Given the description of an element on the screen output the (x, y) to click on. 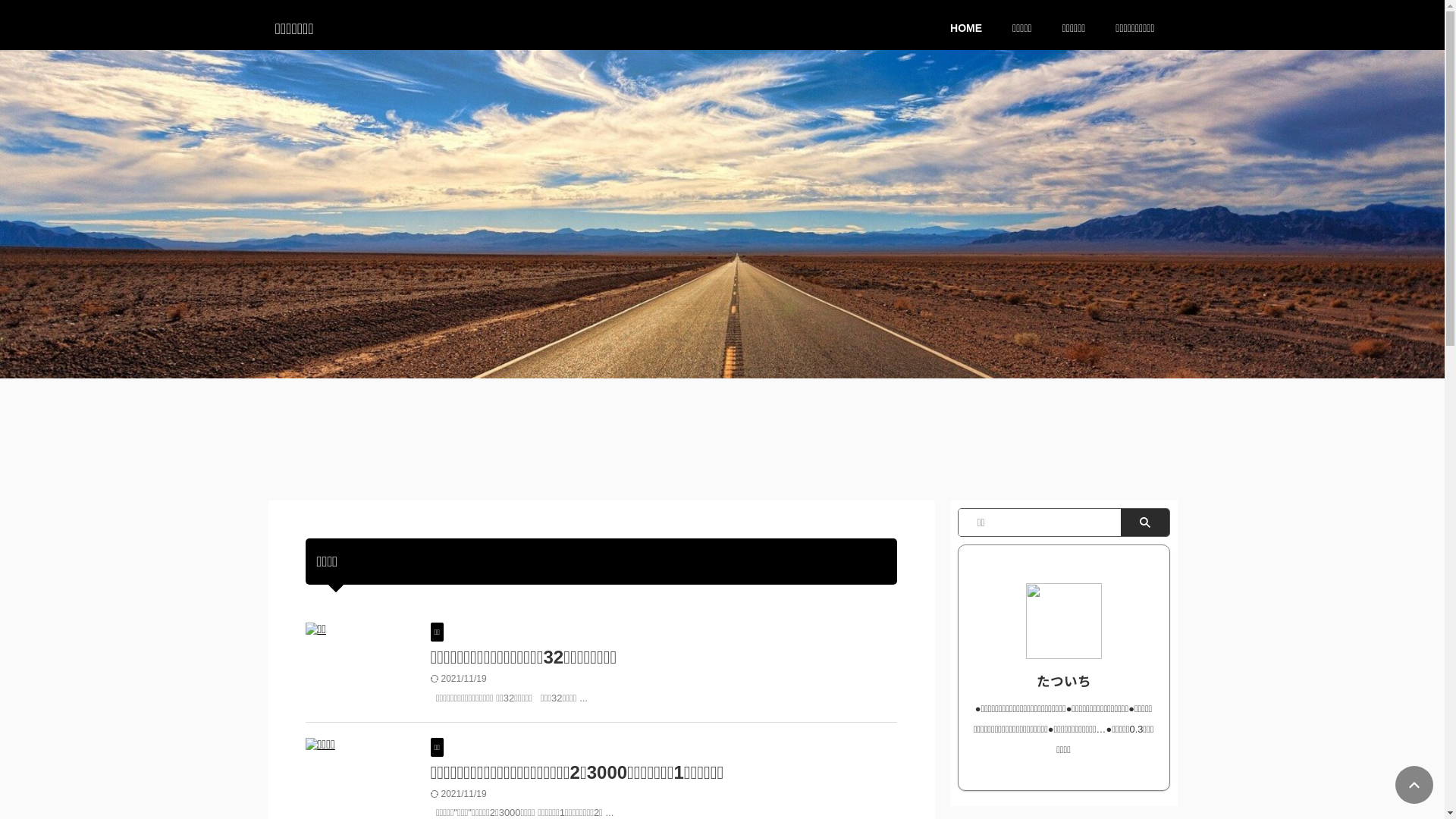
HOME Element type: text (966, 27)
